Given the description of an element on the screen output the (x, y) to click on. 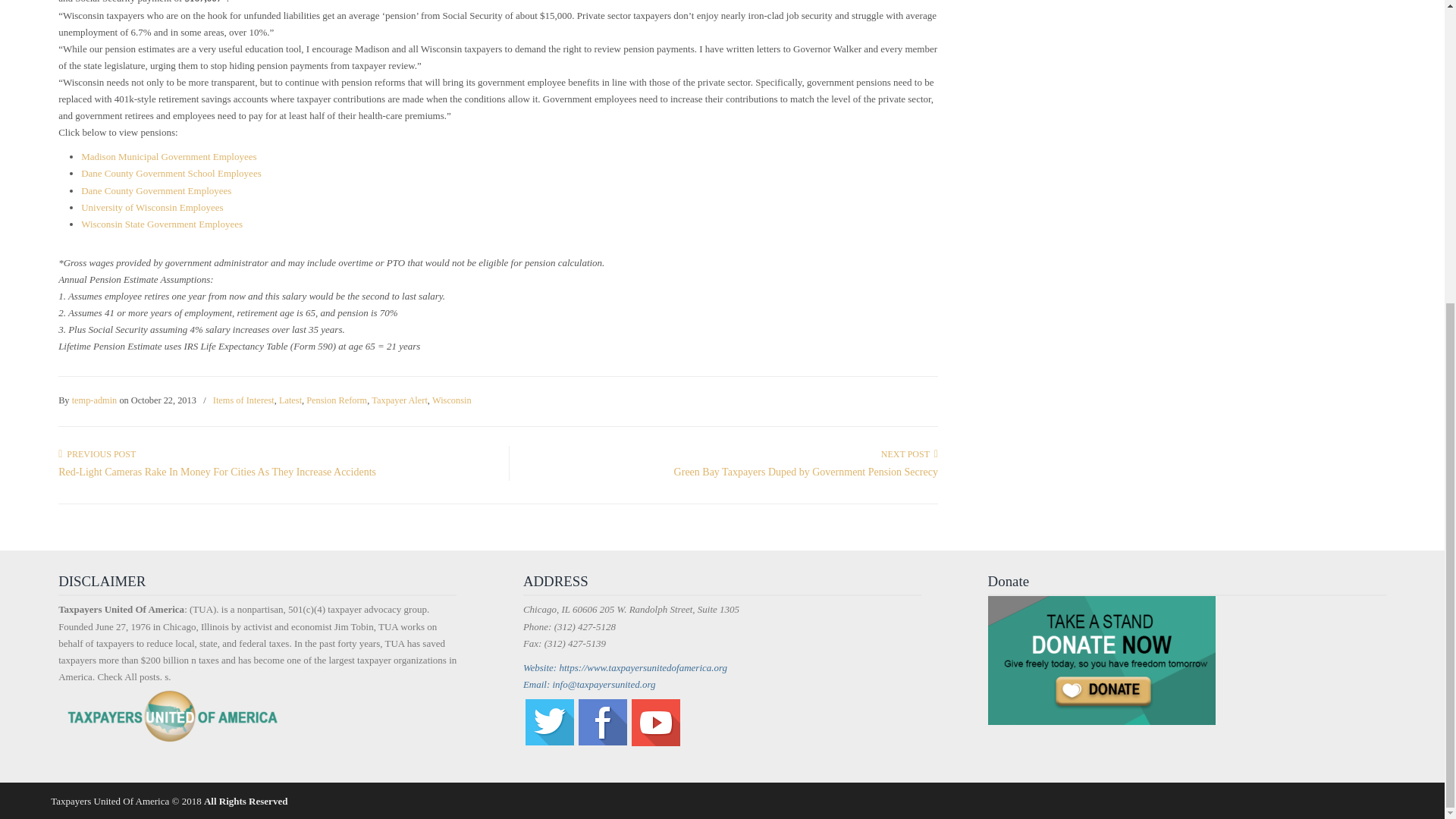
Twitter (549, 741)
Green Bay Taxpayers Duped by Government Pension Secrecy (805, 471)
Go to next post (908, 453)
Posts by temp-admin (94, 400)
Facebook (602, 741)
Go to previous post (96, 453)
